Given the description of an element on the screen output the (x, y) to click on. 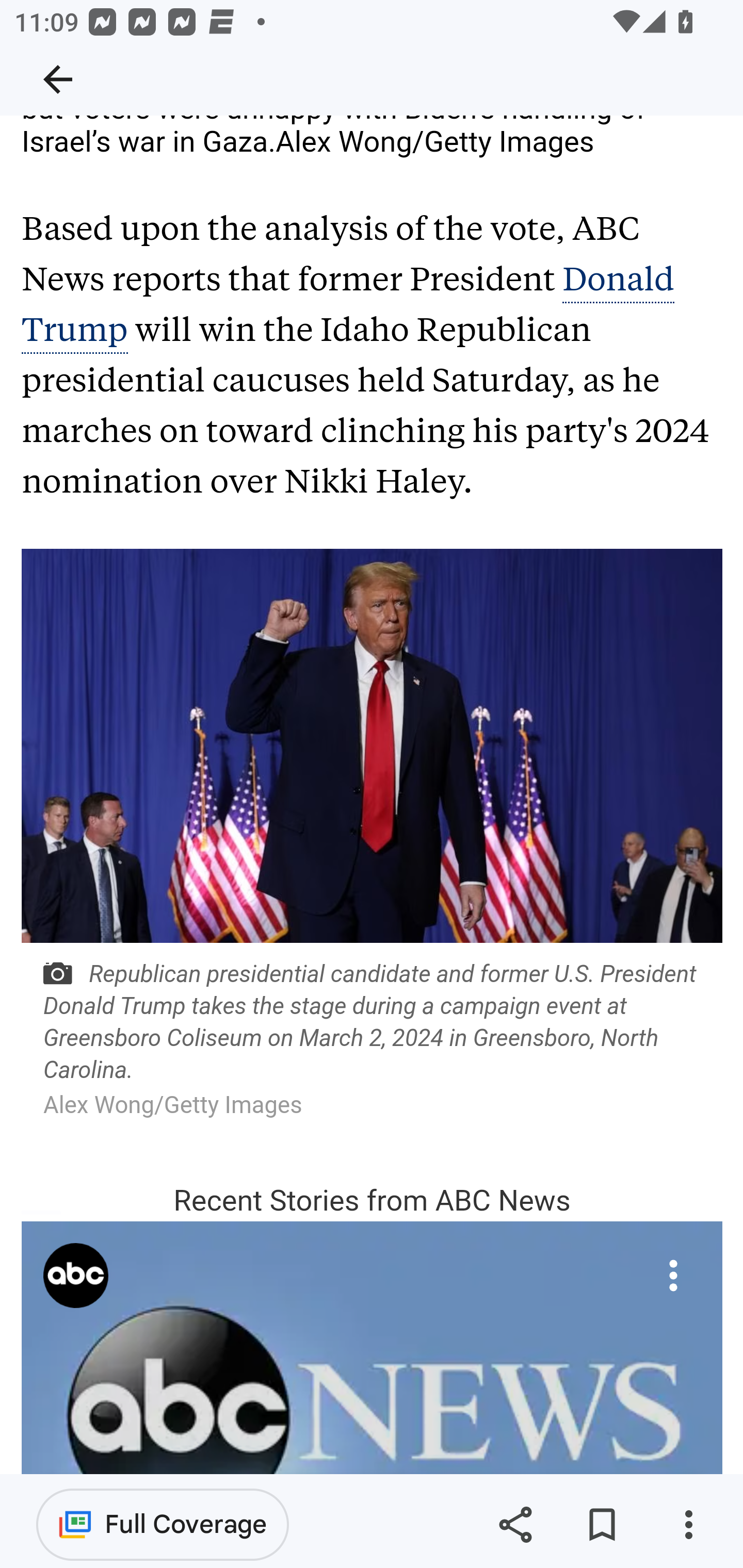
Navigate up (57, 79)
Donald Trump (348, 305)
More (673, 1276)
Share (514, 1524)
Save for later (601, 1524)
More options (688, 1524)
Full Coverage (162, 1524)
